Given the description of an element on the screen output the (x, y) to click on. 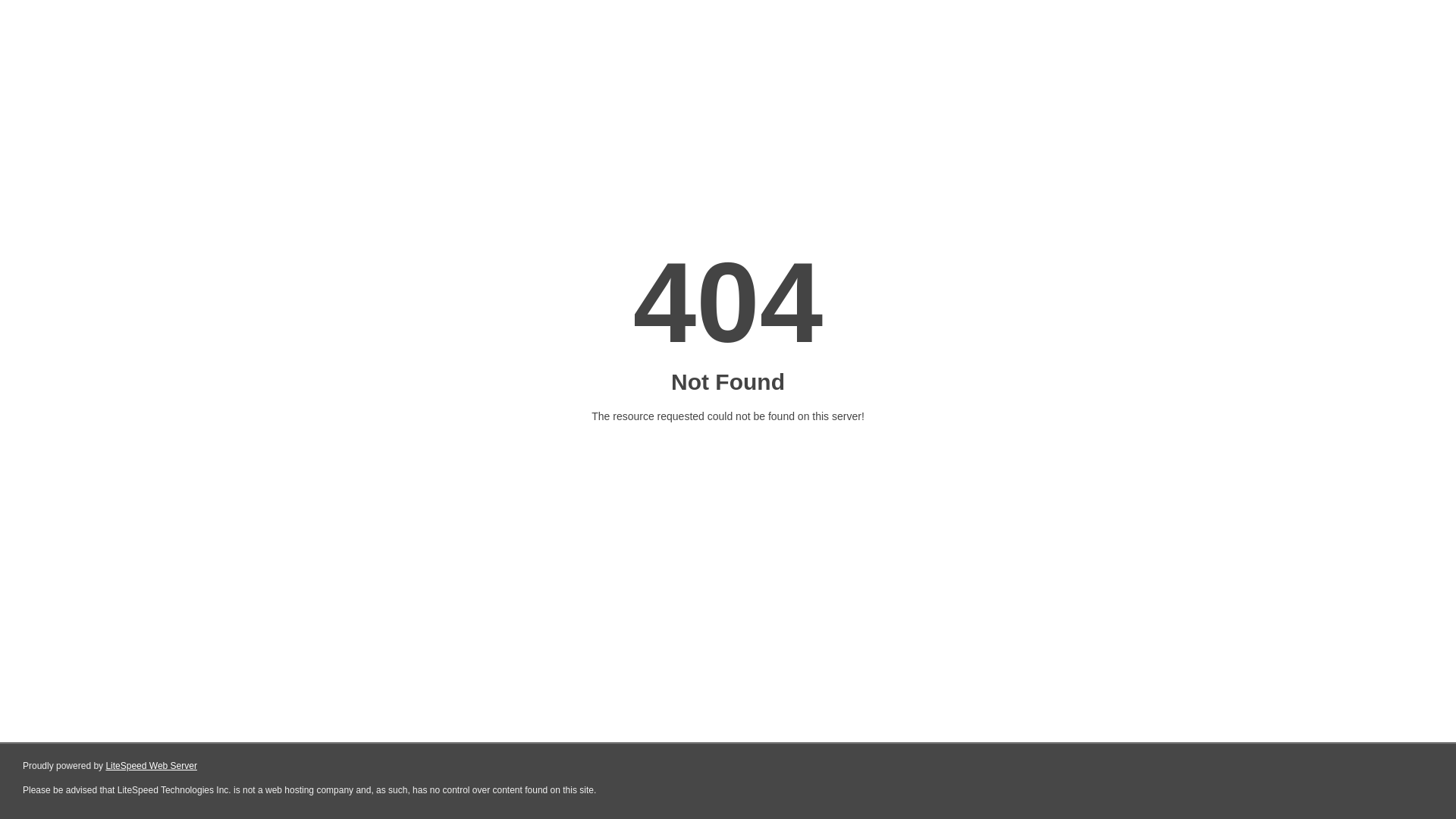
LiteSpeed Web Server Element type: text (151, 765)
